Given the description of an element on the screen output the (x, y) to click on. 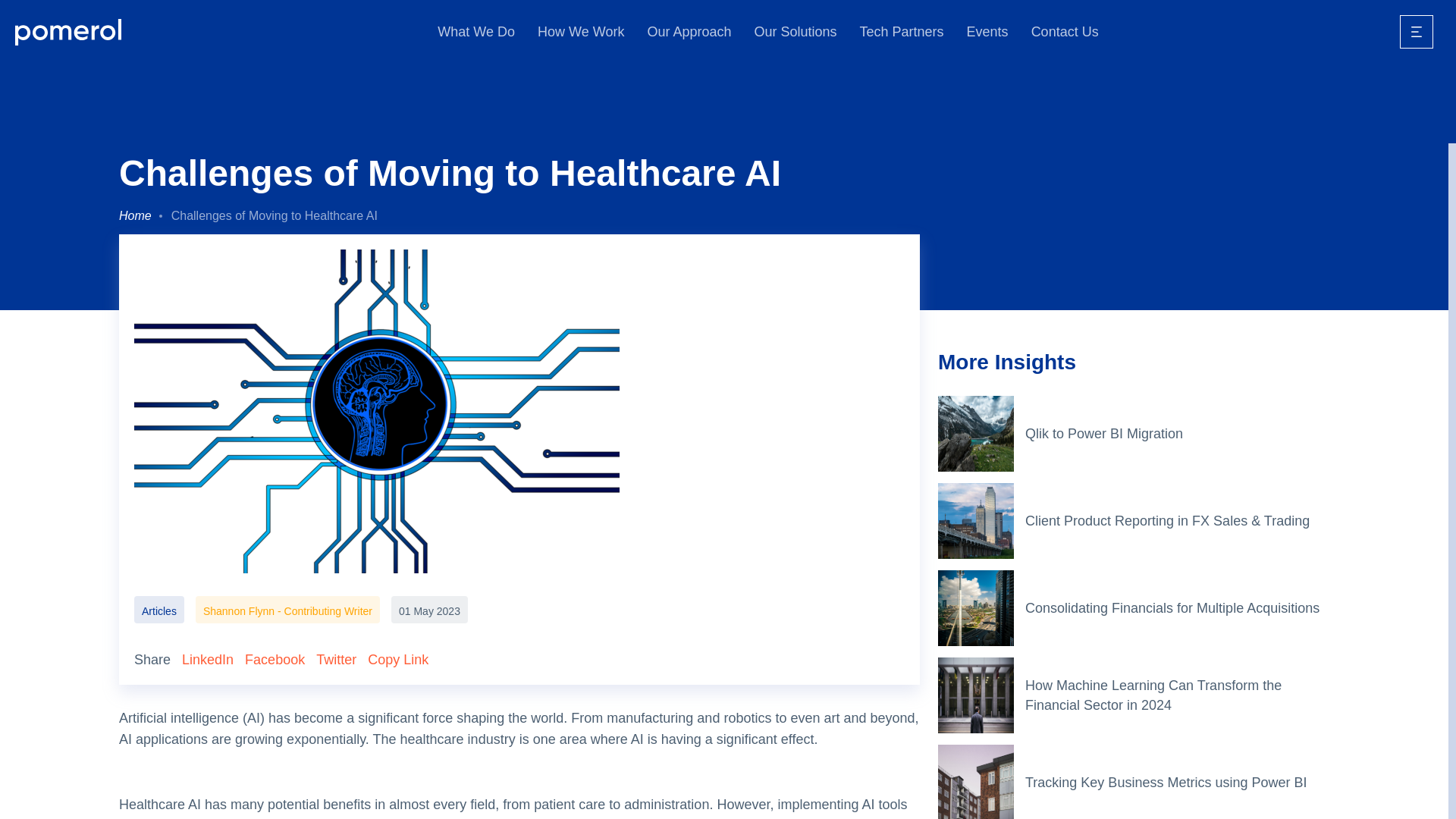
Contact Us (1064, 31)
How We Work (580, 31)
Tech Partners (901, 31)
Facebook (274, 659)
Our Solutions (794, 31)
LinkedIn (207, 659)
Tracking Key Business Metrics using Power BI (1177, 782)
What We Do (476, 31)
Home (135, 216)
Copy Link (398, 659)
Events (987, 31)
Qlik to Power BI Migration (1177, 433)
Our Approach (688, 31)
Articles (158, 609)
